Given the description of an element on the screen output the (x, y) to click on. 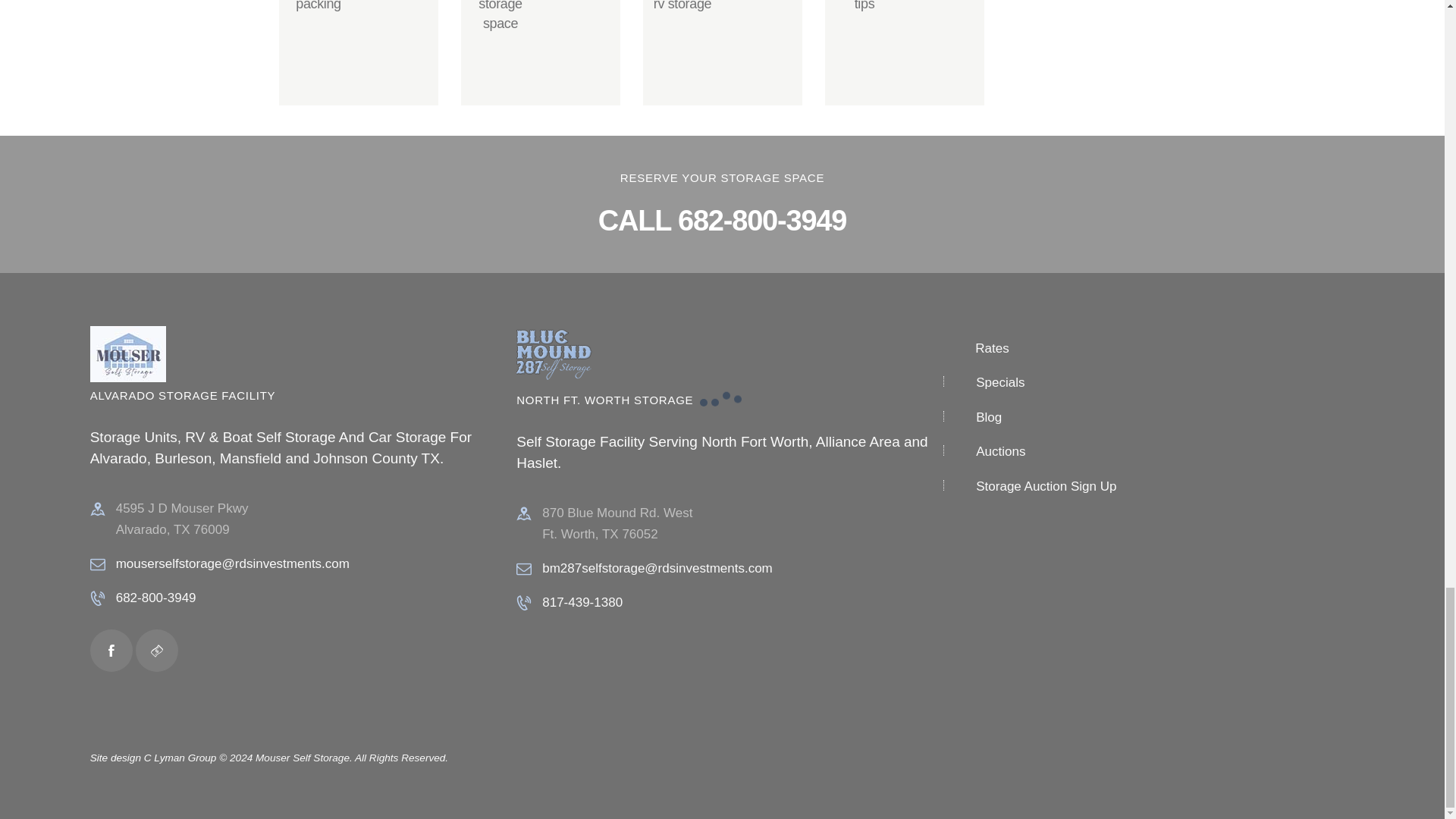
blue mound 287 self storage - Mouser Self Storage (554, 355)
mouser-self-storage - Mouser Self Storage (127, 353)
